Given the description of an element on the screen output the (x, y) to click on. 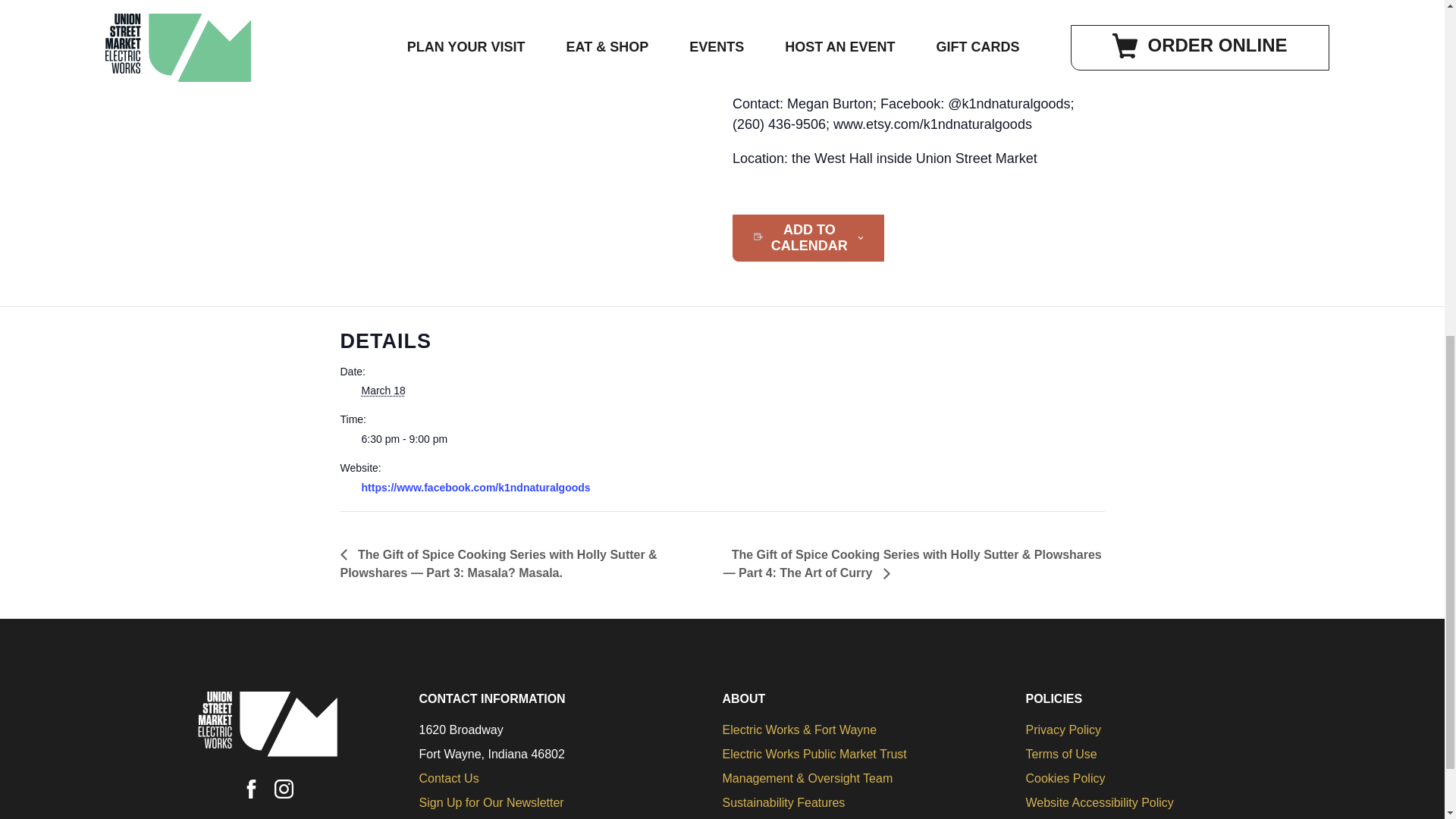
2024-03-18 (382, 390)
Terms of Use (1060, 753)
ADD TO CALENDAR (809, 237)
Privacy Policy (1062, 729)
Sustainability Features (783, 802)
Contact Us (449, 778)
Website Accessibility Policy (1099, 802)
Cookies Policy (1065, 778)
Sign Up for Our Newsletter (491, 802)
2024-03-18 (723, 439)
Electric Works Public Market Trust (813, 753)
